Given the description of an element on the screen output the (x, y) to click on. 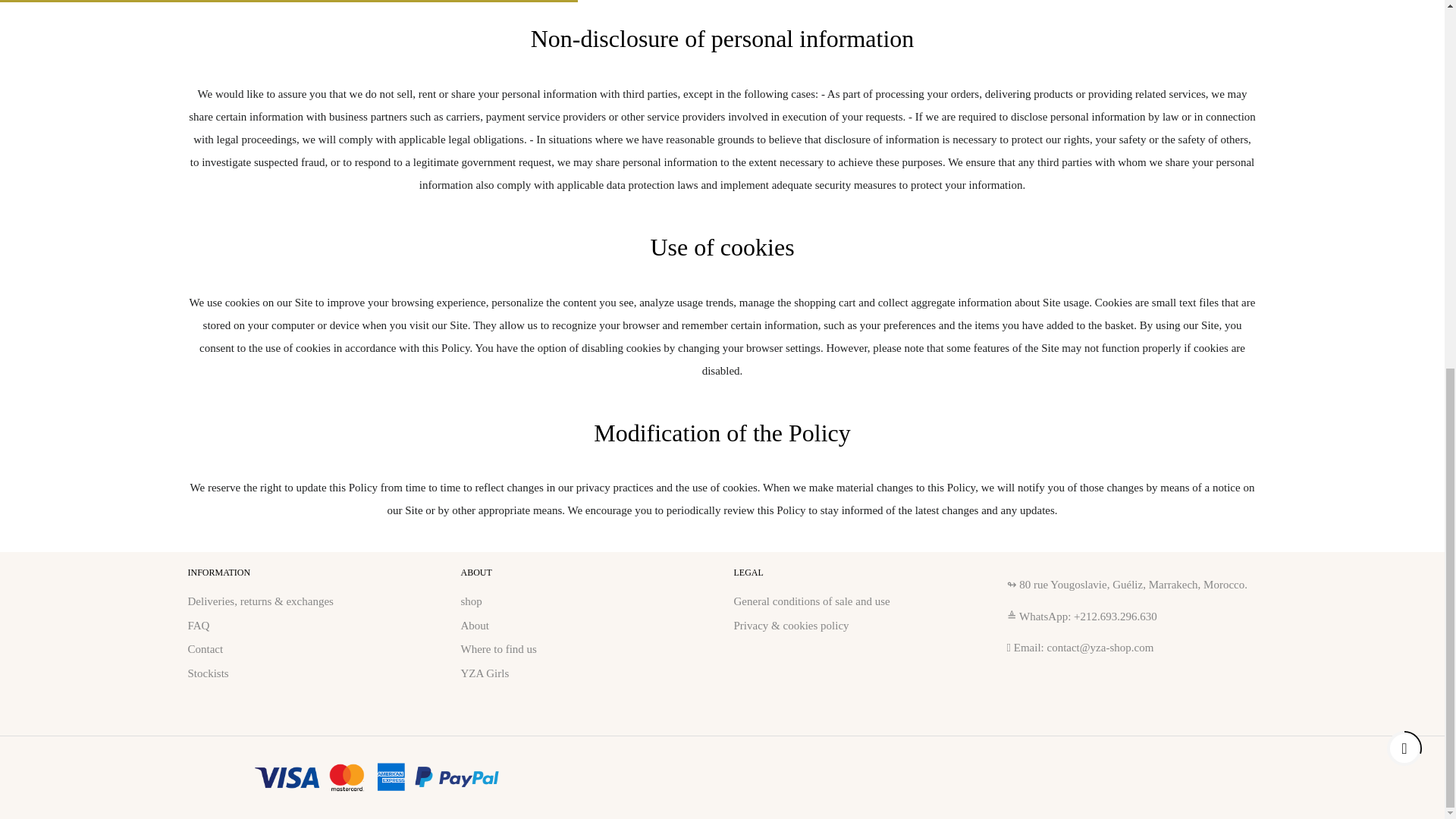
Contact (205, 648)
About (475, 625)
shop (471, 601)
General conditions of sale and use (811, 601)
Stockists (207, 673)
FAQ (198, 625)
YZA Girls (485, 673)
Where to find us (499, 648)
